Given the description of an element on the screen output the (x, y) to click on. 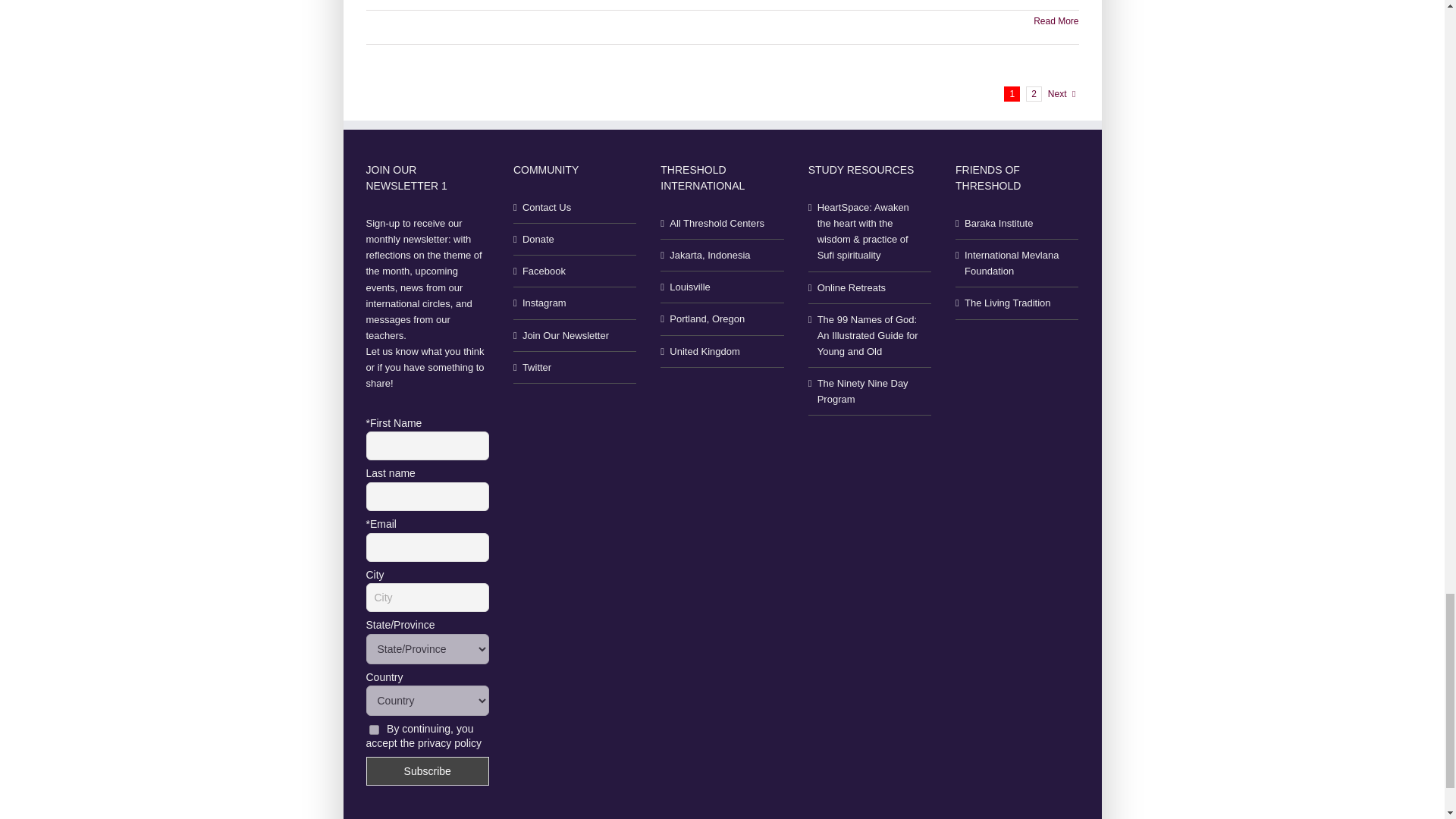
Subscribe (426, 770)
Mother Dergah (722, 286)
Threshold, UK: London, Huddersfield, Reigate, Cardiff (722, 350)
Instagram (575, 302)
Threshold Society on Twitter (575, 367)
on (373, 729)
Join Our Newsletter (575, 335)
Threshold Society on Facebook (575, 270)
